Given the description of an element on the screen output the (x, y) to click on. 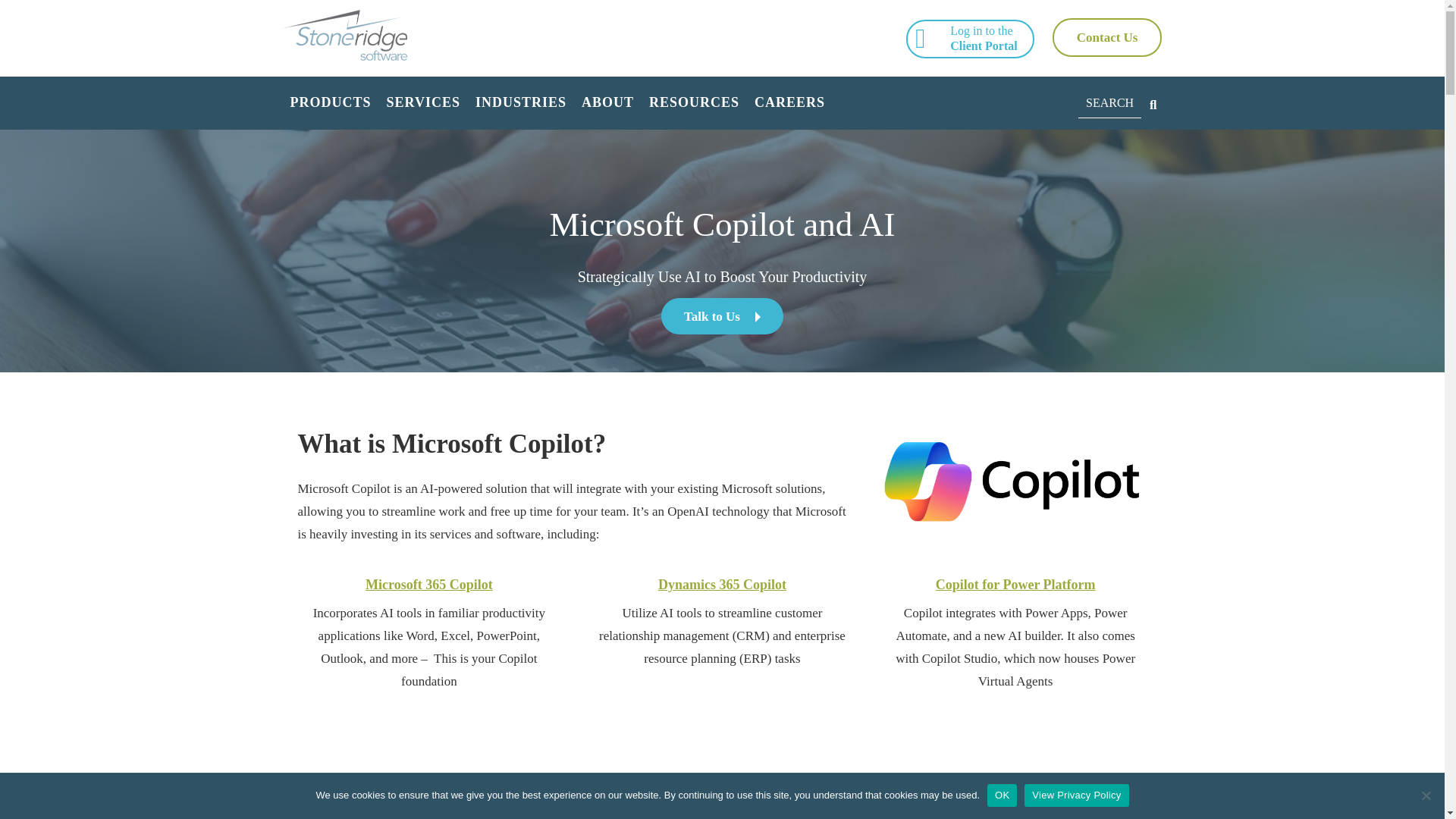
No (1425, 795)
PRODUCTS (330, 102)
